Given the description of an element on the screen output the (x, y) to click on. 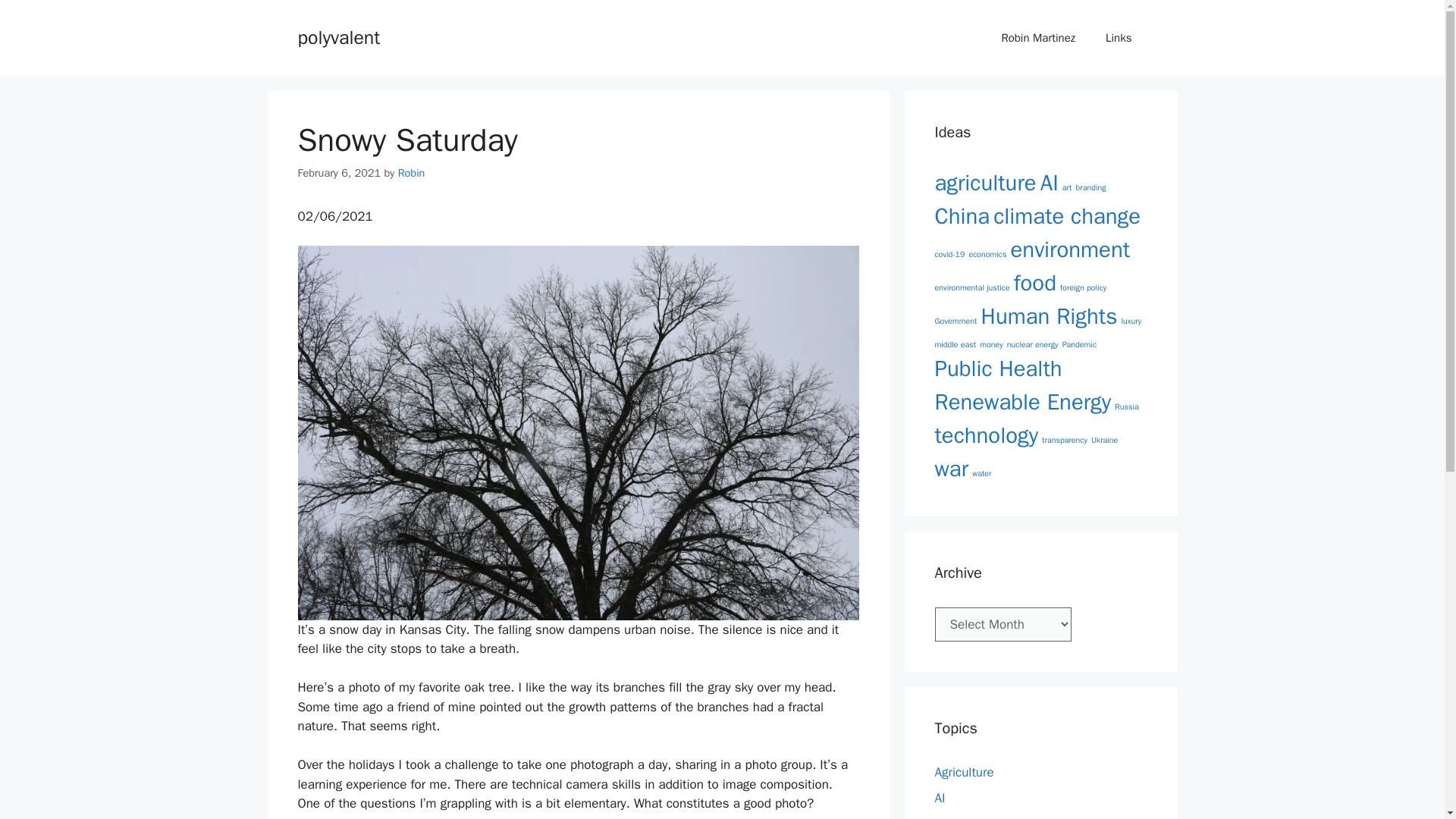
polyvalent (338, 37)
View all posts by Robin (411, 172)
covid-19 (948, 254)
transparency (1064, 439)
Renewable Energy (1022, 402)
middle east (954, 344)
Public Health (997, 368)
foreign policy (1082, 287)
Links (1118, 37)
luxury (1131, 320)
